Given the description of an element on the screen output the (x, y) to click on. 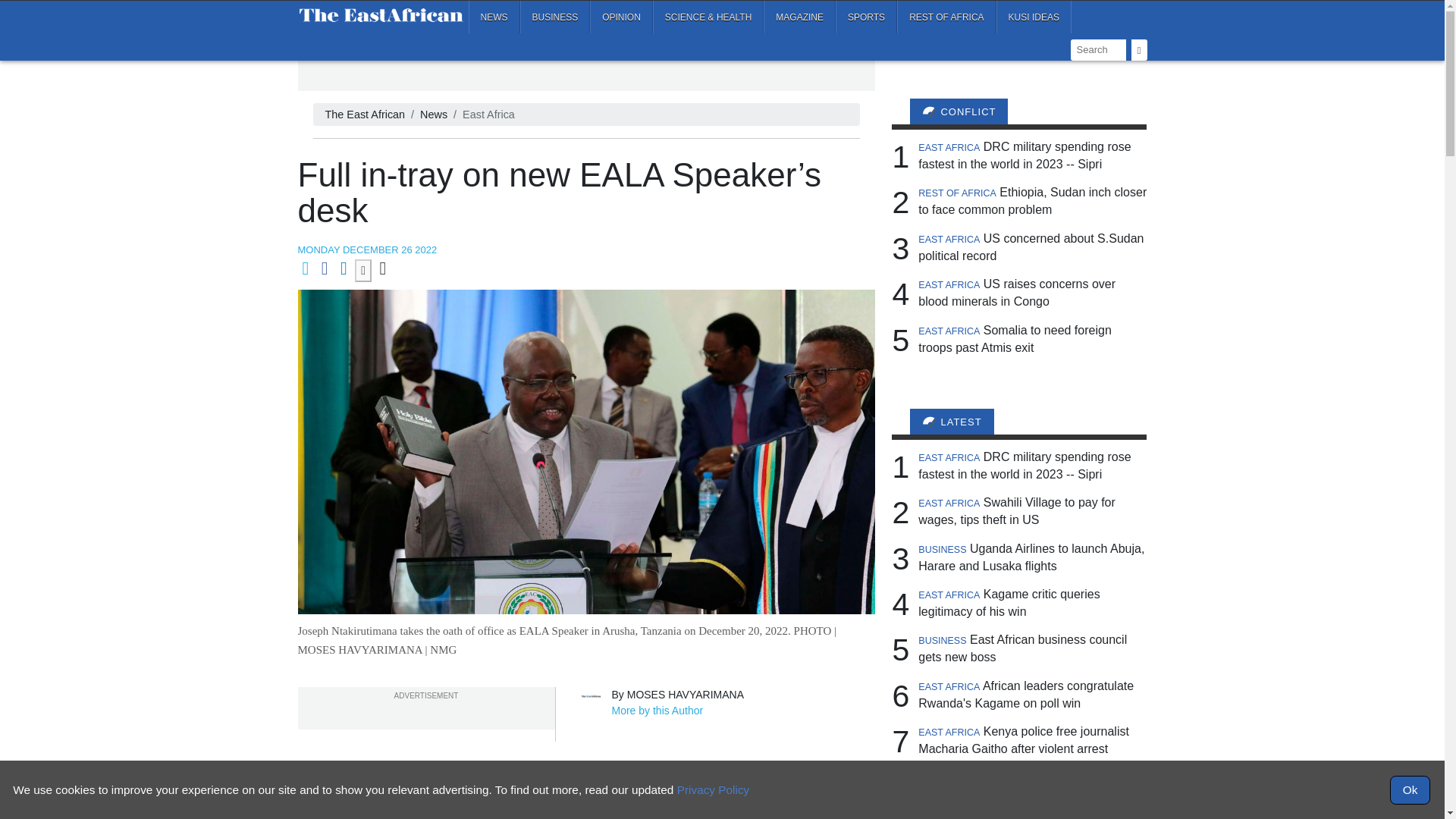
SPORTS (865, 16)
MAGAZINE (798, 16)
Privacy Policy (713, 789)
Privacy Policy (713, 789)
BUSINESS (555, 16)
NEWS (493, 16)
OPINION (620, 16)
Ok (1409, 789)
